Given the description of an element on the screen output the (x, y) to click on. 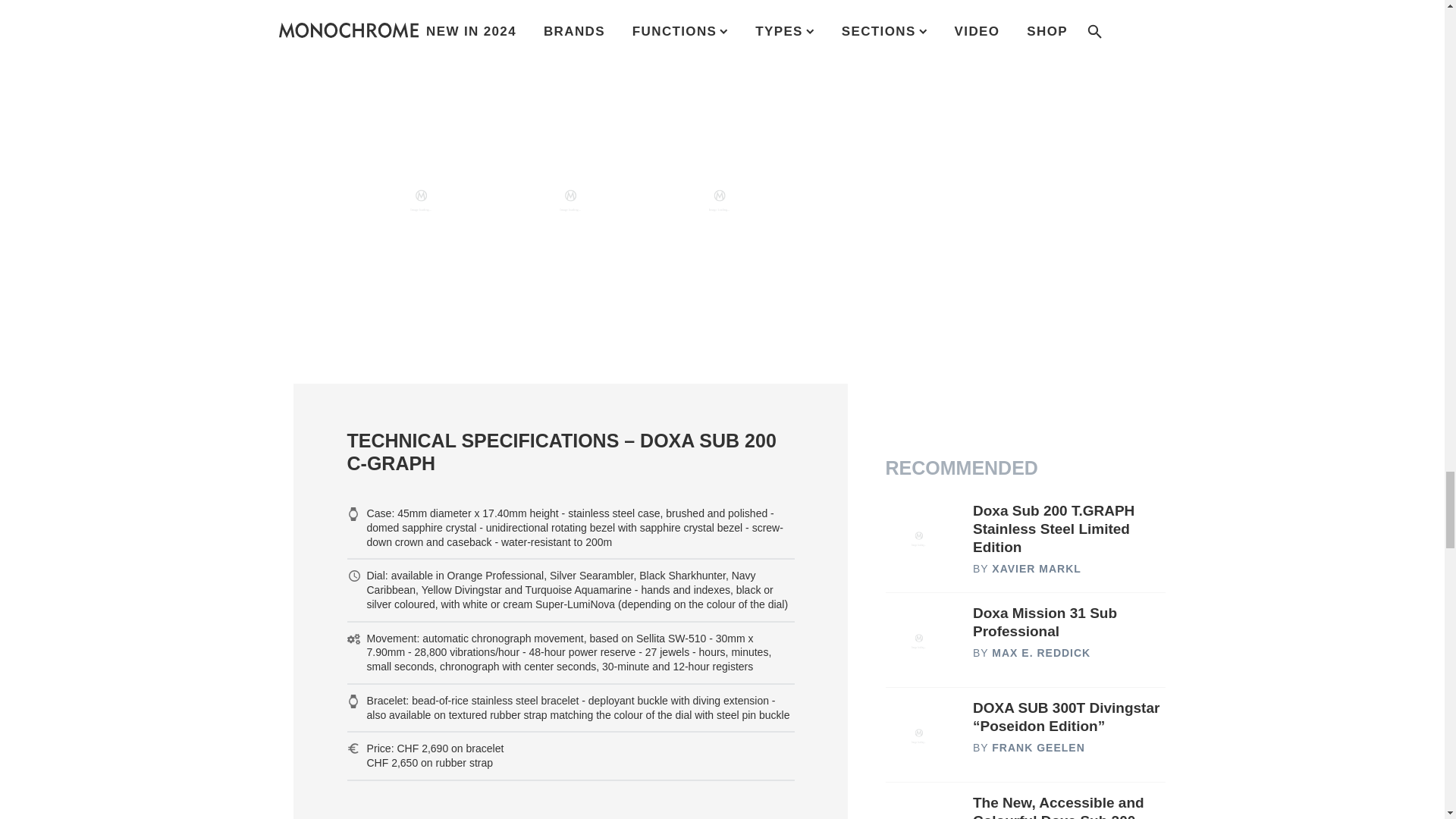
Doxa SUB 200 C-Graph Chronograph 16 (570, 36)
Doxa SUB 200 C-Graph Chronograph 15 (422, 36)
Doxa SUB 200 C-Graph Chronograph 17 (720, 36)
